Given the description of an element on the screen output the (x, y) to click on. 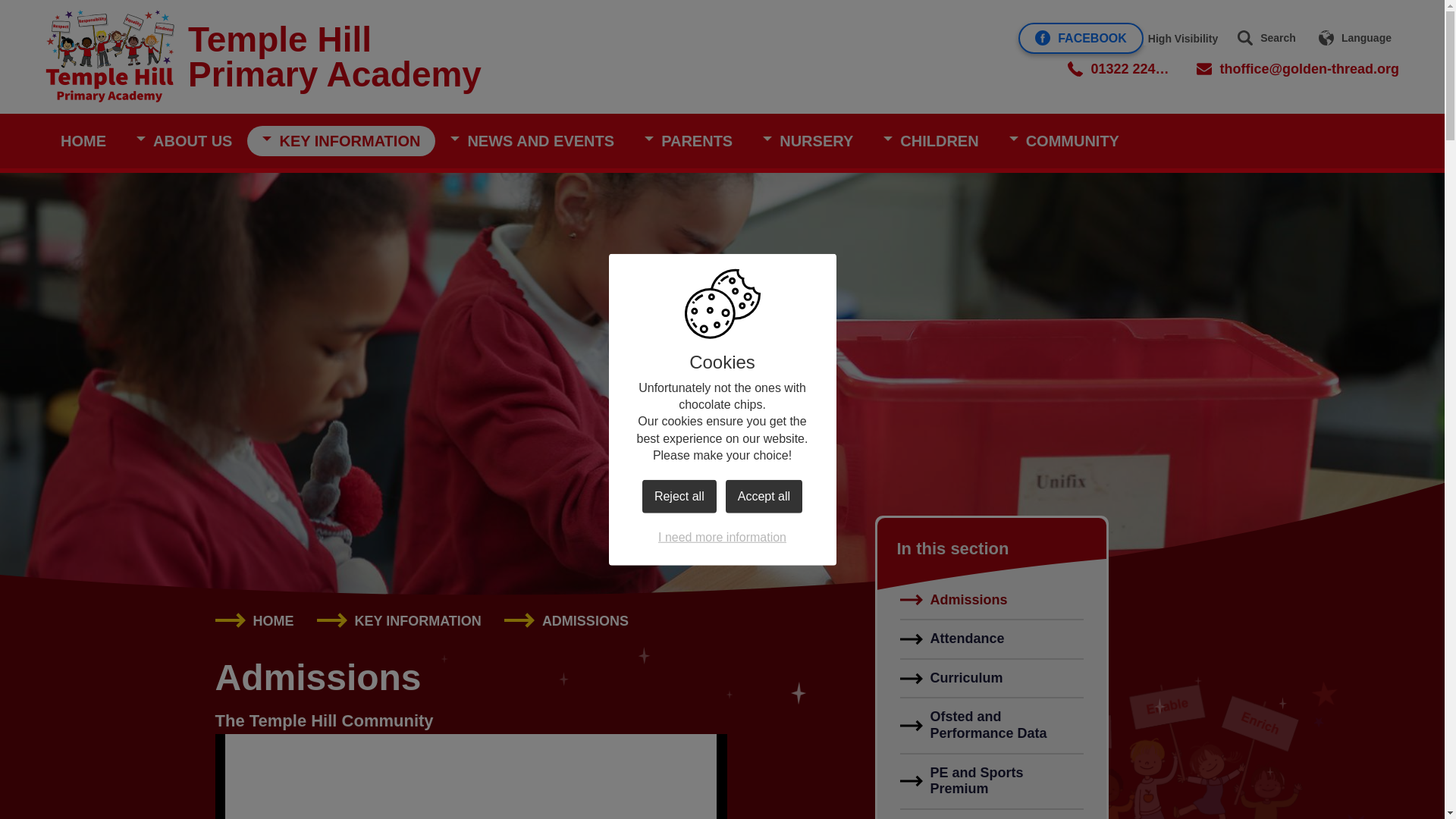
01322 224600 (1120, 68)
Home Page (109, 56)
High Visibility (1182, 38)
ABOUT US (183, 141)
FACEBOOK (1079, 38)
KEY INFORMATION (341, 141)
HOME (82, 141)
